Given the description of an element on the screen output the (x, y) to click on. 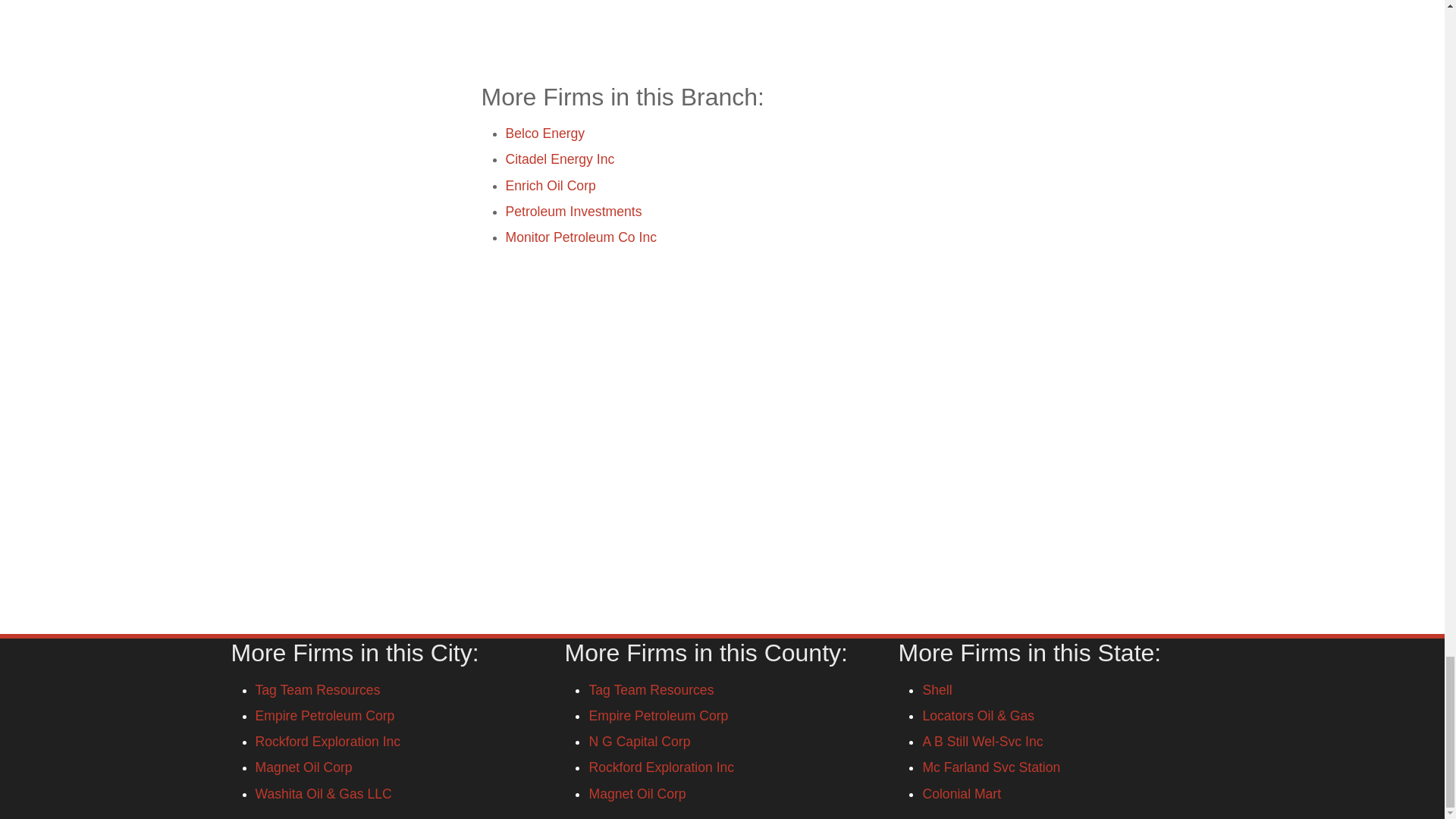
Petroleum Investments (573, 211)
Citadel Energy Inc (559, 159)
Monitor Petroleum Co Inc (580, 237)
Enrich Oil Corp (550, 185)
Belco Energy (545, 133)
